Given the description of an element on the screen output the (x, y) to click on. 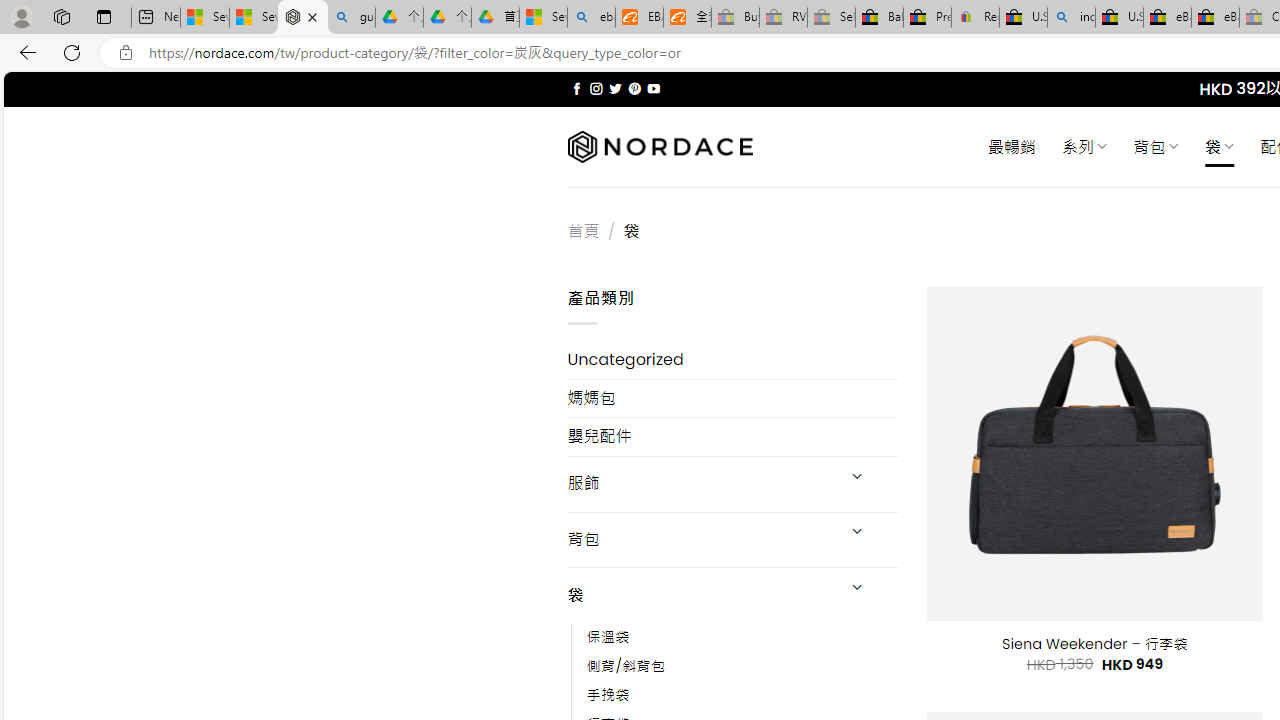
Uncategorized (732, 359)
